Given the description of an element on the screen output the (x, y) to click on. 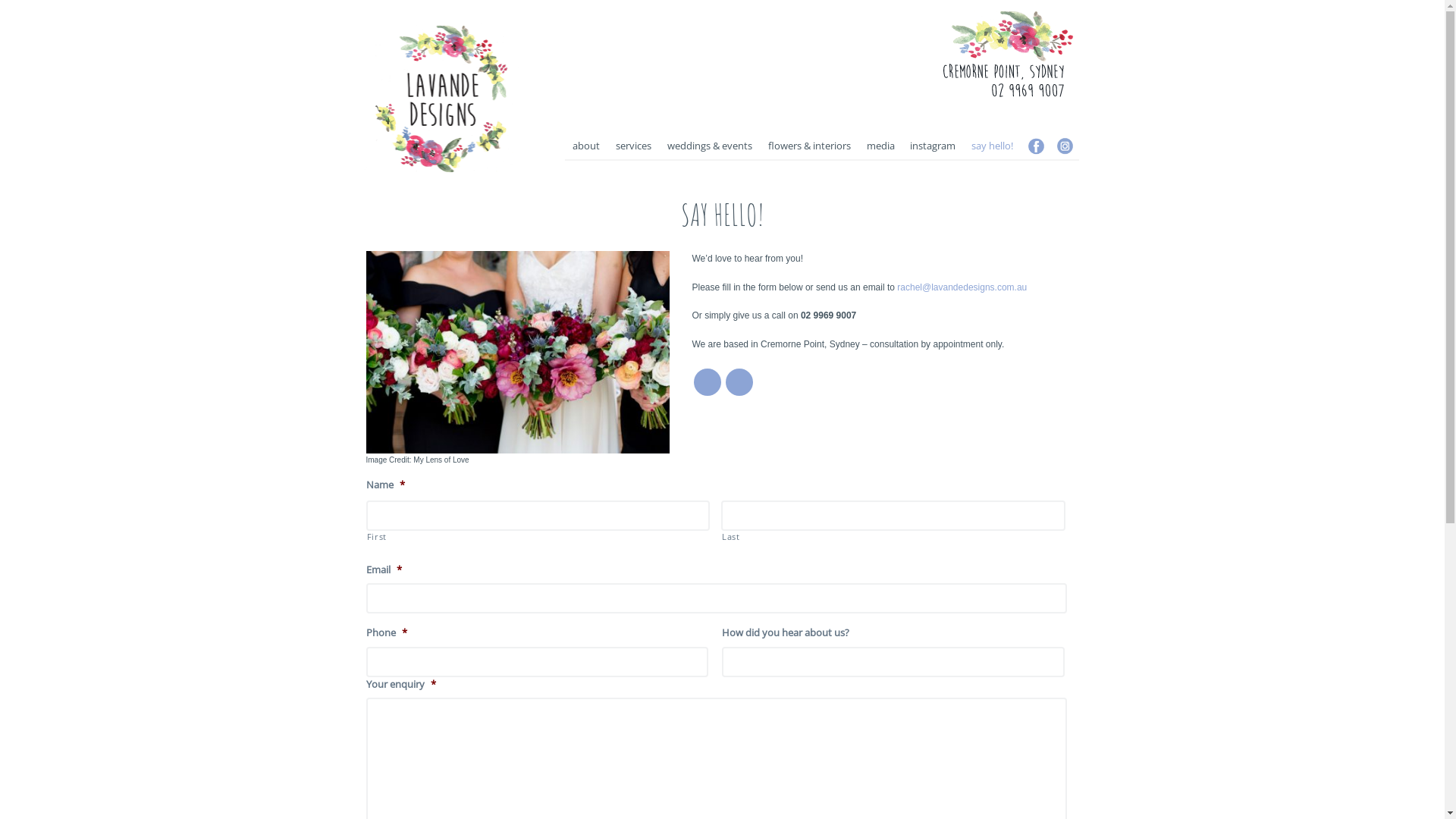
Lavande Designs Element type: text (422, 180)
flowers & interiors Element type: text (808, 125)
instagram Element type: text (932, 125)
media Element type: text (880, 125)
Skip to primary navigation Element type: text (0, 0)
services Element type: text (633, 125)
say hello! Element type: text (992, 125)
facebook Element type: text (1034, 129)
about Element type: text (586, 125)
rachel@lavandedesigns.com.au Element type: text (961, 287)
instagram Element type: text (1063, 129)
weddings & events Element type: text (709, 125)
